Given the description of an element on the screen output the (x, y) to click on. 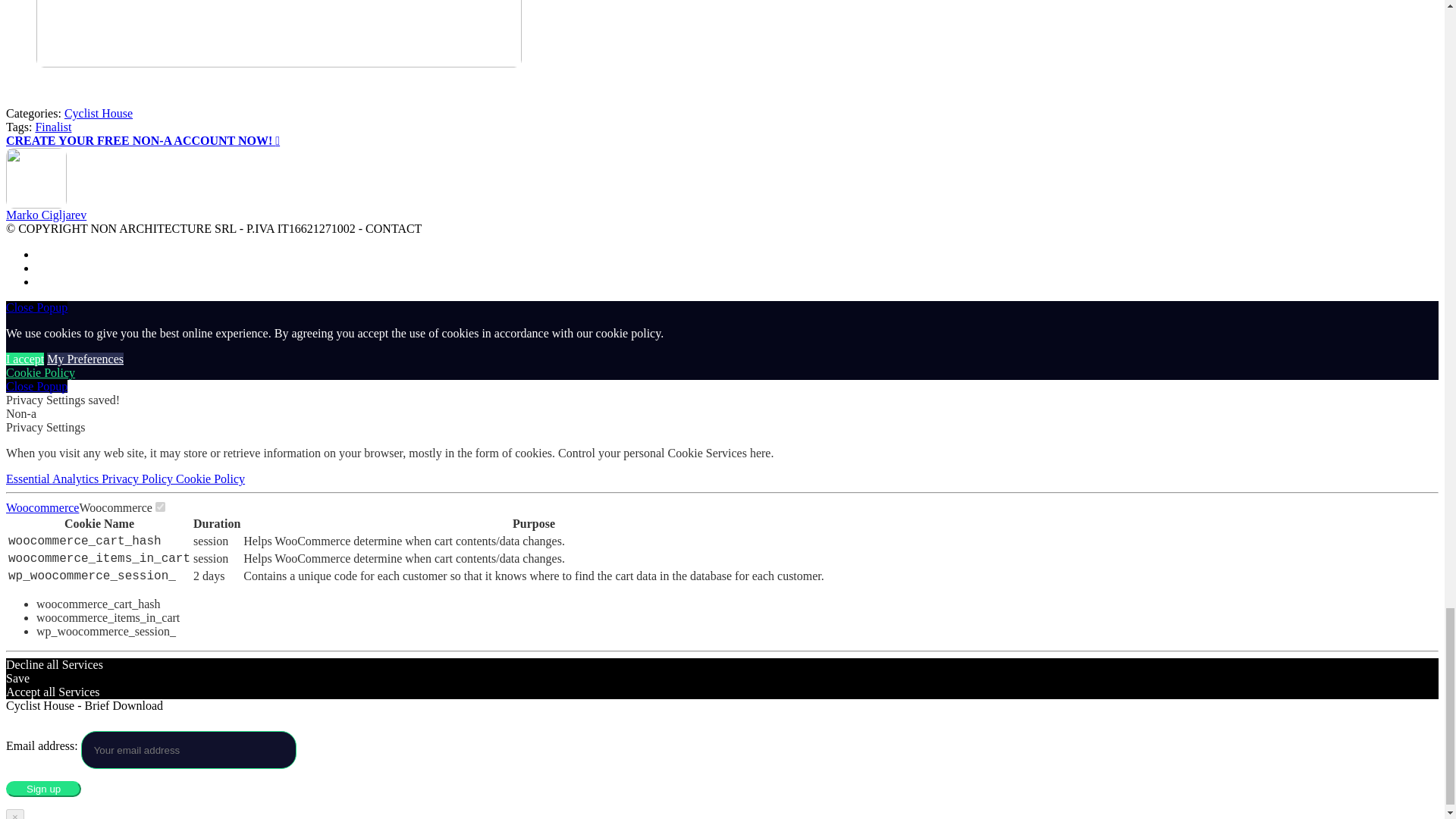
Sign up (43, 788)
close (35, 386)
on (160, 506)
